Given the description of an element on the screen output the (x, y) to click on. 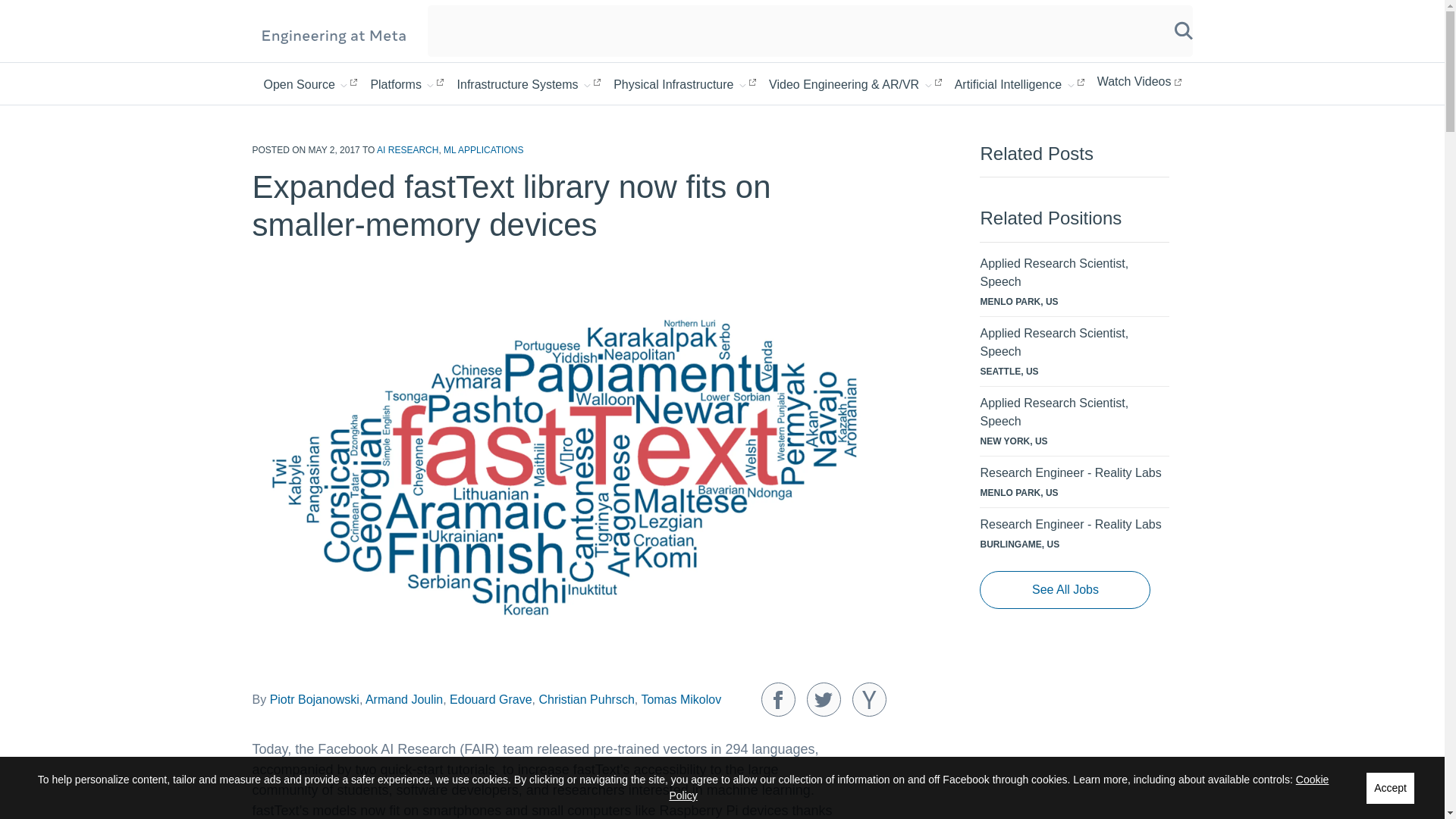
Edouard Grave (490, 698)
Christian Puhrsch (585, 698)
Piotr Bojanowski (314, 698)
Watch Videos (1138, 81)
Open Source (310, 83)
Tomas Mikolov (680, 698)
ML APPLICATIONS (483, 149)
Platforms (406, 83)
Infrastructure Systems (529, 83)
Platforms (406, 83)
Open Source (310, 83)
Armand Joulin (403, 698)
AI RESEARCH (407, 149)
Infrastructure Systems (529, 83)
Physical Infrastructure (683, 83)
